Given the description of an element on the screen output the (x, y) to click on. 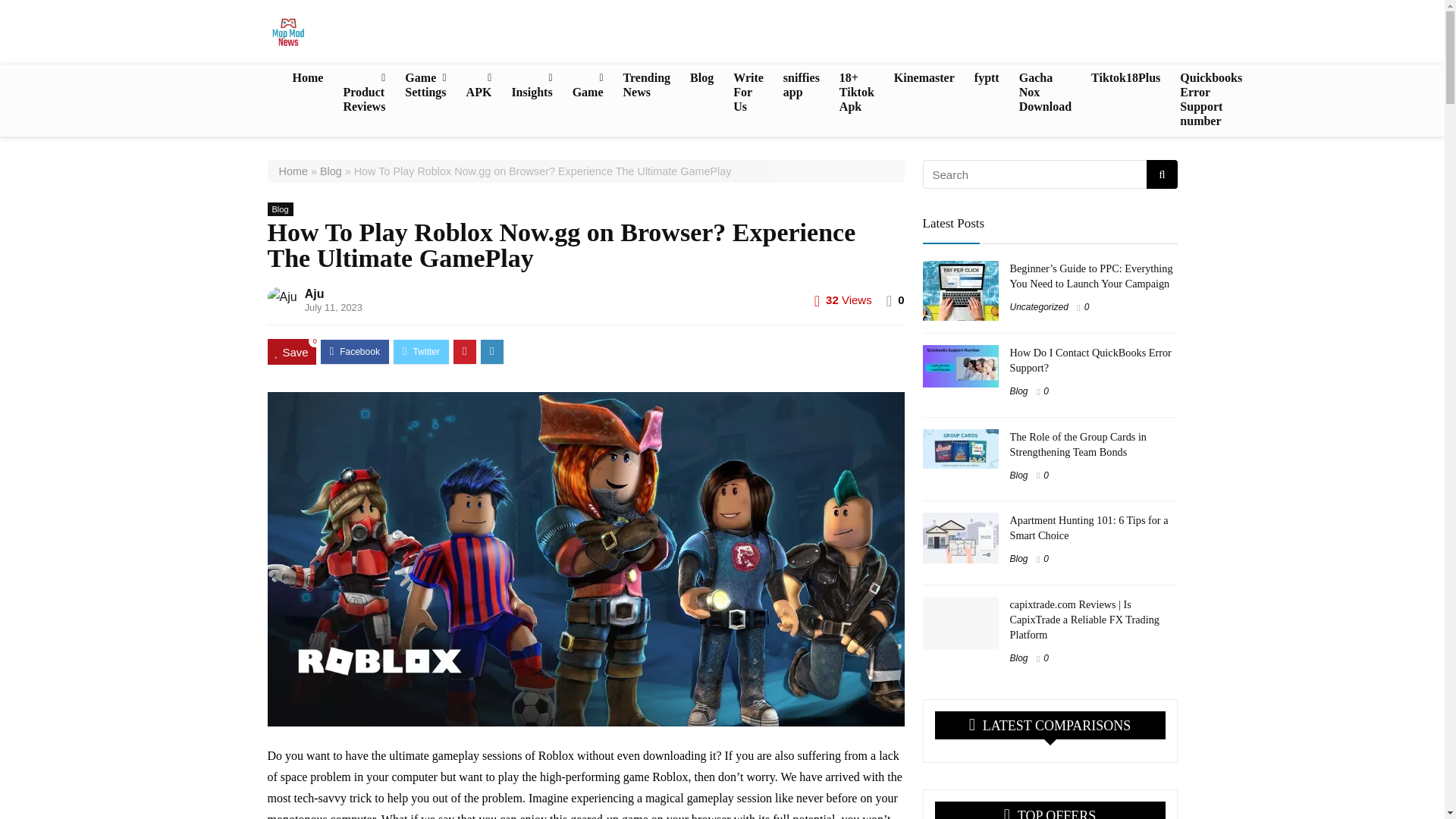
Home (307, 78)
Product Reviews (363, 93)
View all posts in Blog (279, 209)
